Given the description of an element on the screen output the (x, y) to click on. 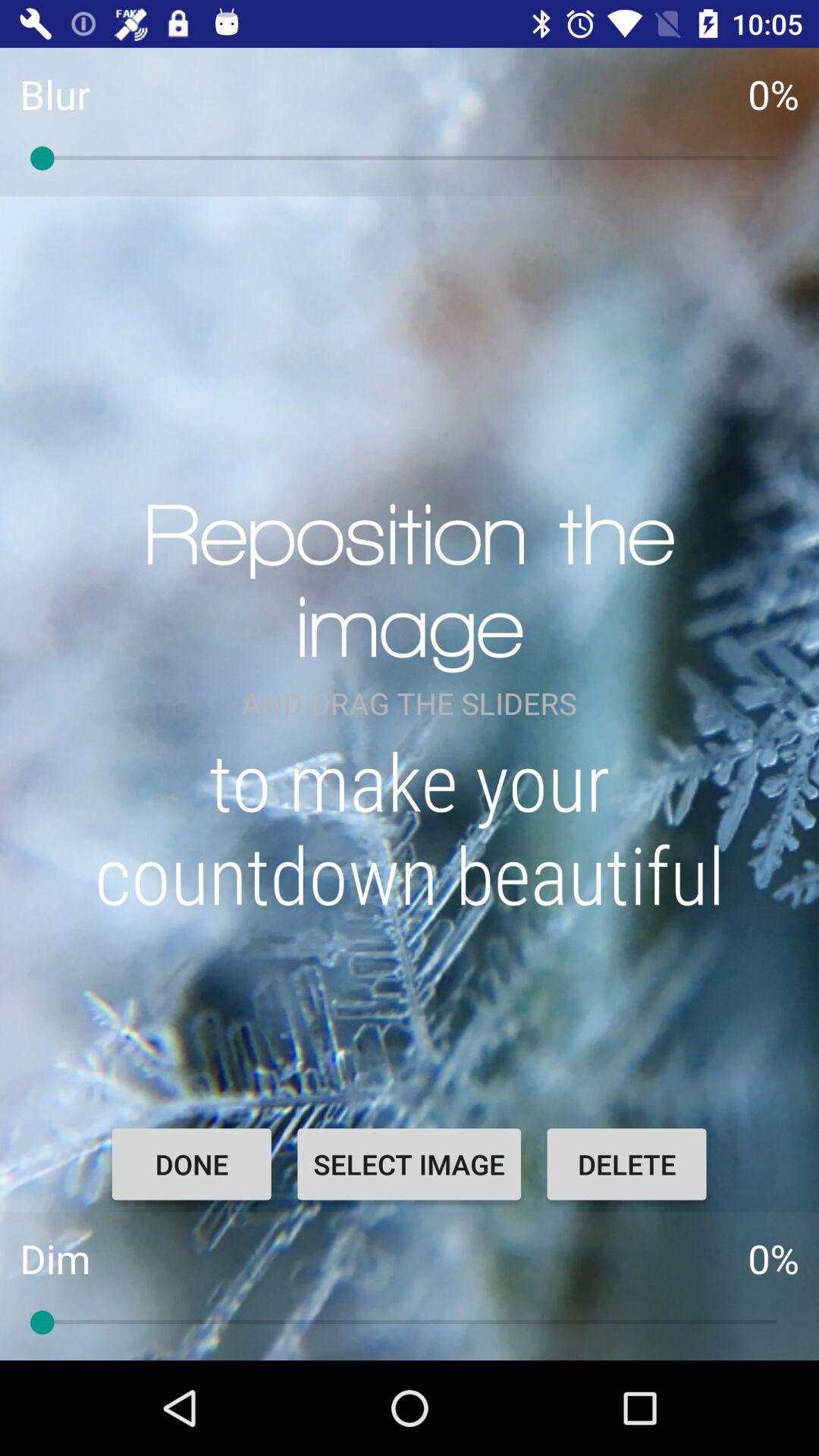
select the item to the right of the select image item (626, 1164)
